Given the description of an element on the screen output the (x, y) to click on. 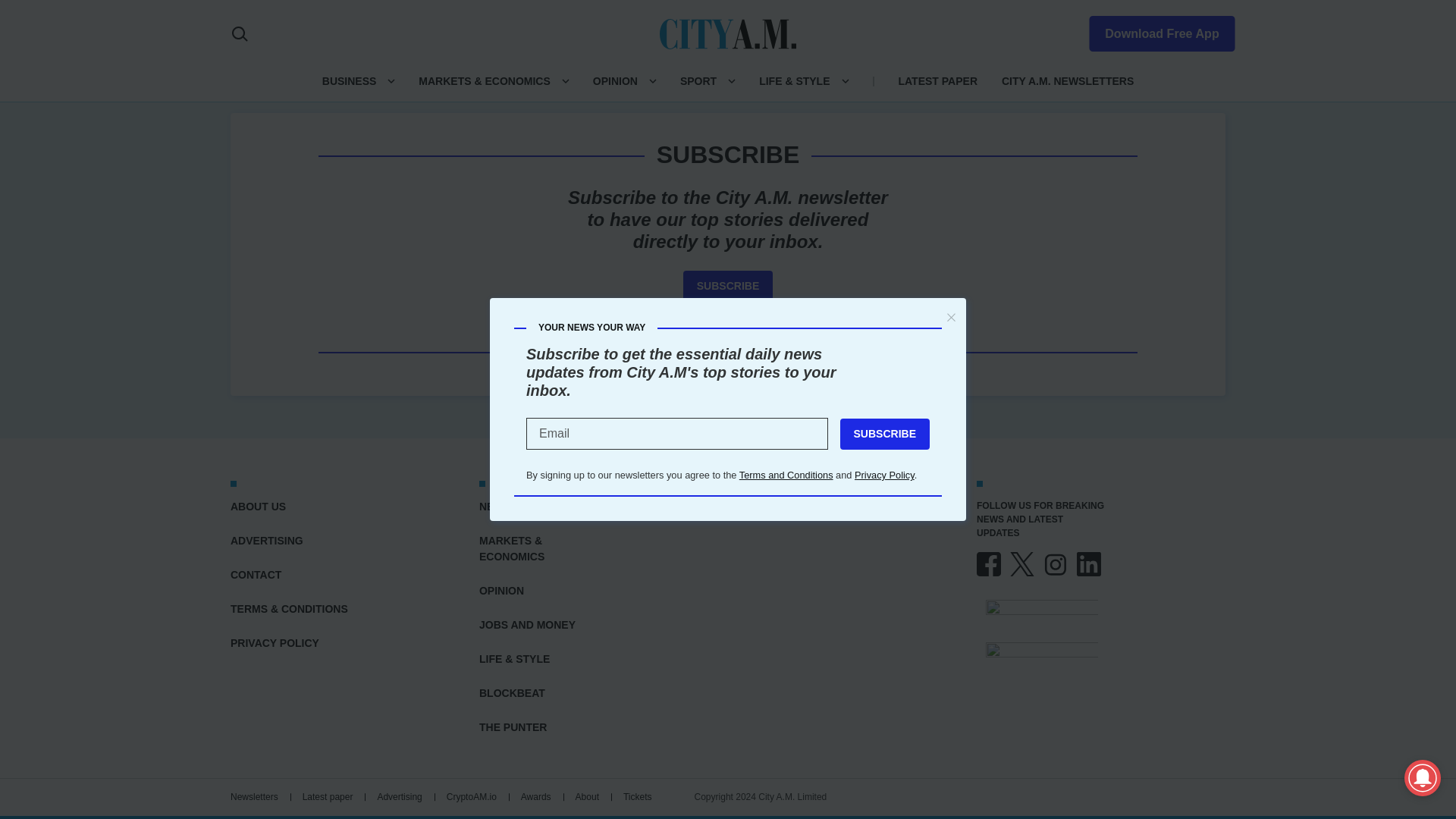
INSTAGRAM (1055, 564)
LINKEDIN (1088, 564)
FACEBOOK (988, 564)
X (1021, 564)
